Given the description of an element on the screen output the (x, y) to click on. 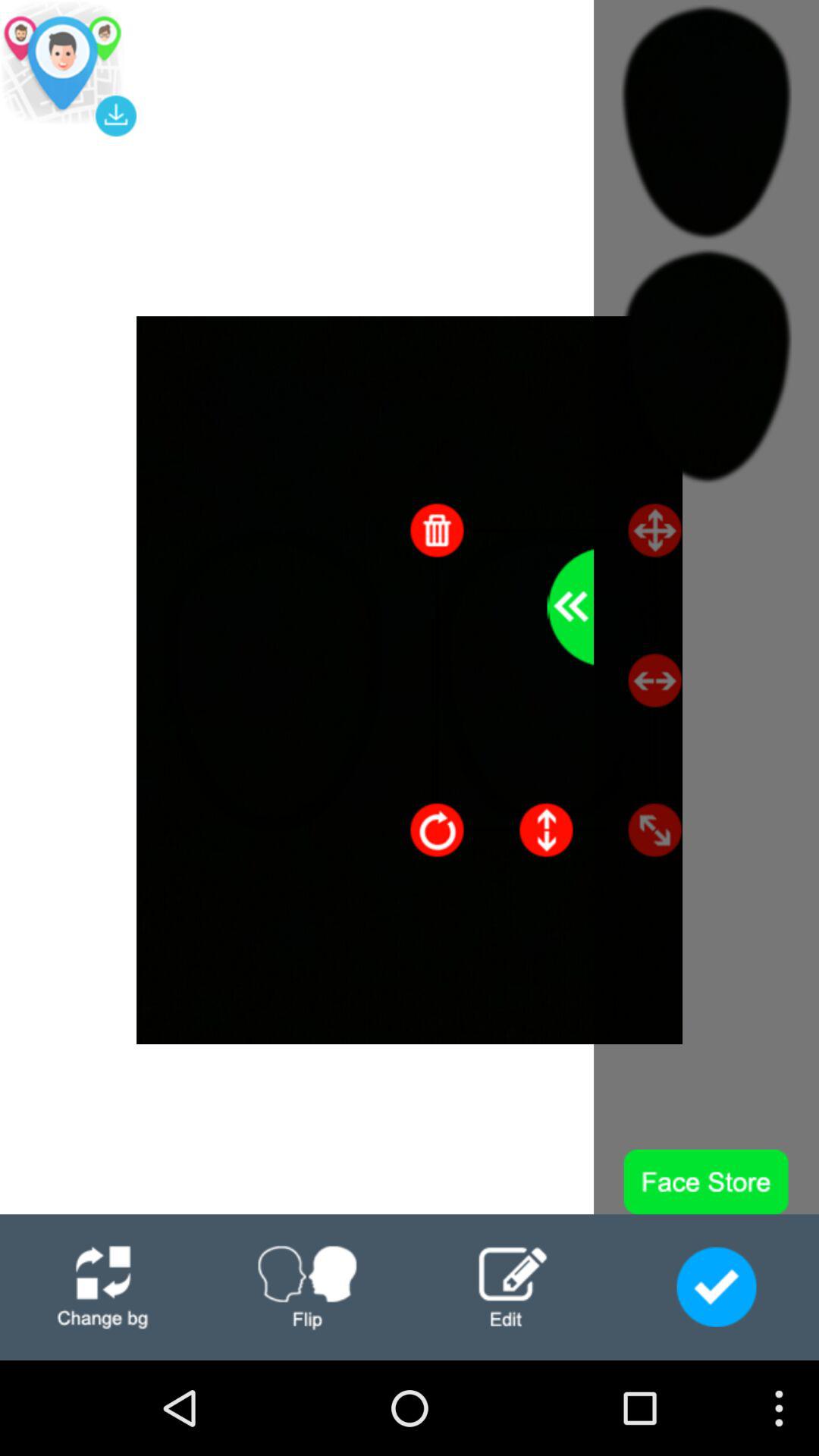
tik option (716, 1286)
